Given the description of an element on the screen output the (x, y) to click on. 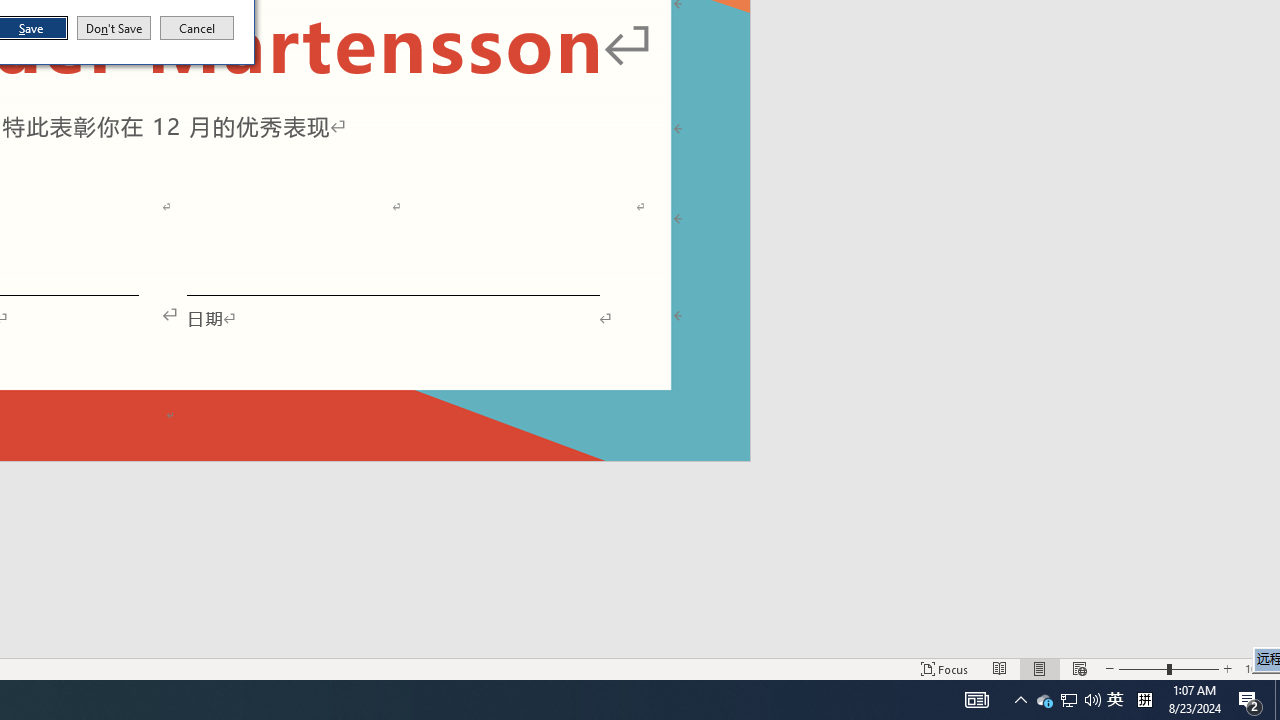
Cancel (197, 27)
Notification Chevron (1020, 699)
AutomationID: 4105 (976, 699)
Q2790: 100% (1092, 699)
